Given the description of an element on the screen output the (x, y) to click on. 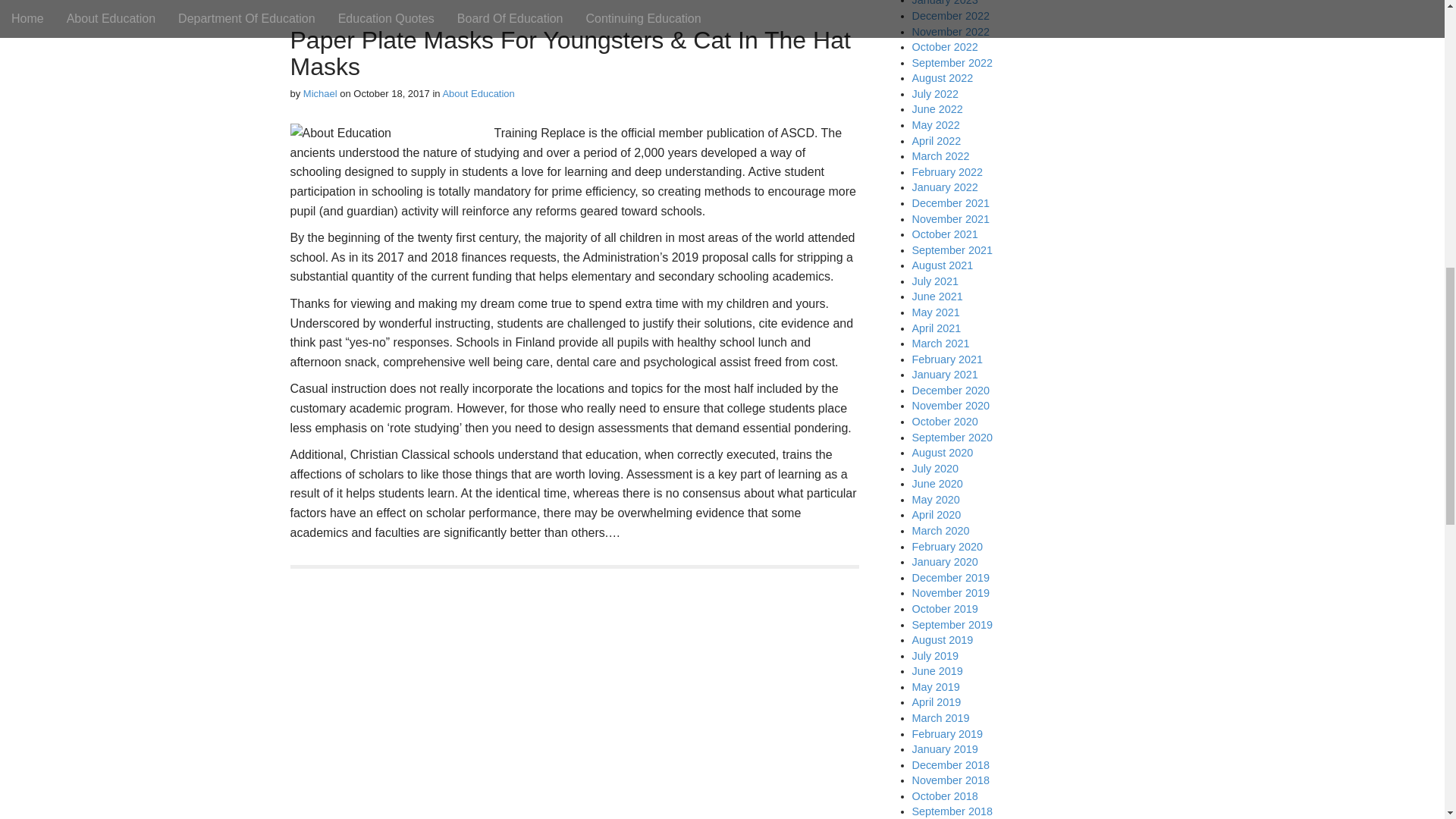
About Education (477, 93)
Michael (319, 93)
October 18, 2017 (391, 93)
Posts by Michael (319, 93)
